Given the description of an element on the screen output the (x, y) to click on. 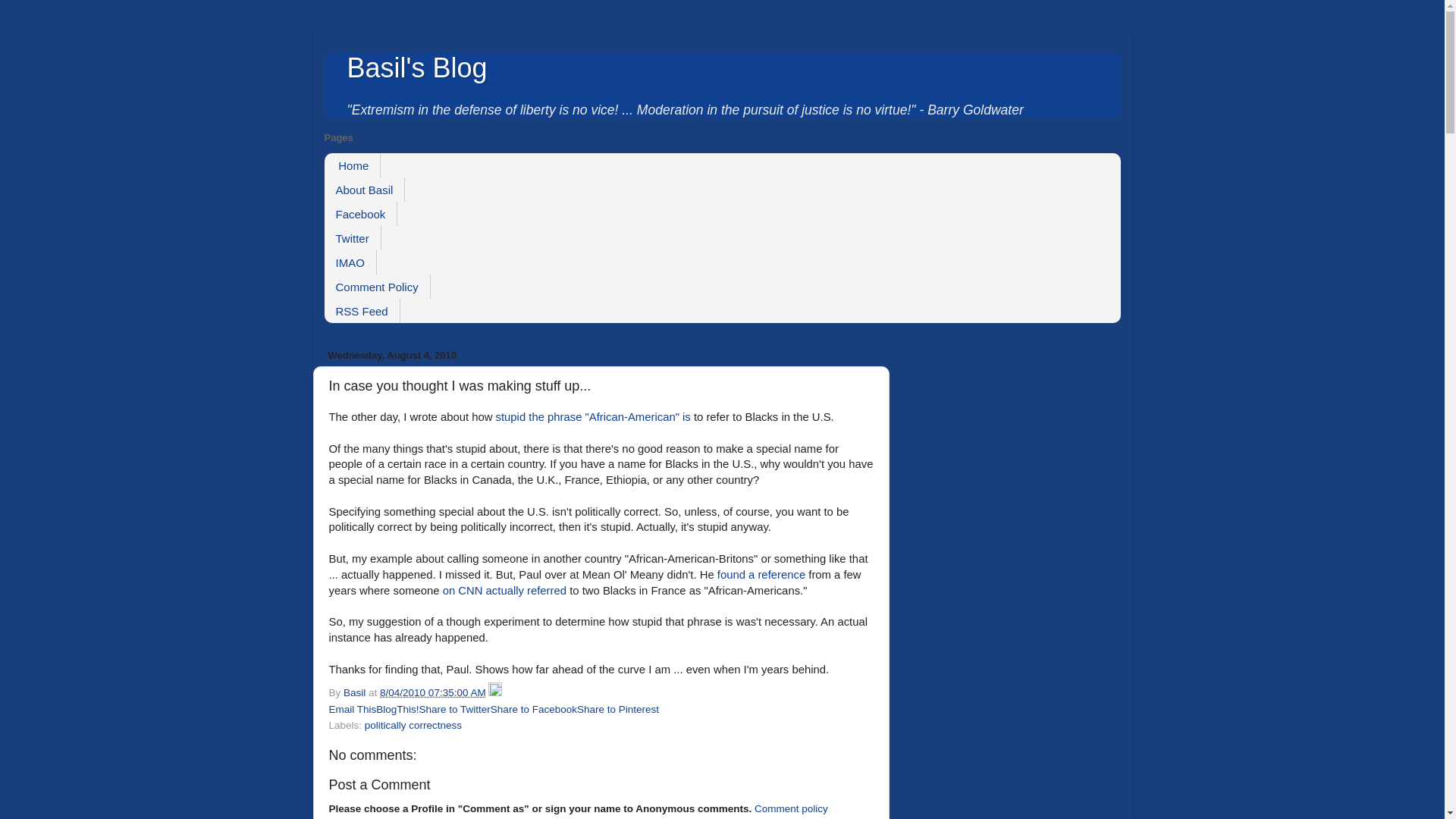
Share to Facebook (533, 708)
on CNN actually referred (504, 590)
Basil's Blog (417, 67)
Email This (353, 708)
Comment Policy (377, 286)
Share to Facebook (533, 708)
Email This (353, 708)
found a reference (761, 574)
About Basil (365, 189)
Comment policy (791, 808)
Edit Post (494, 692)
BlogThis! (397, 708)
Share to Twitter (454, 708)
RSS Feed (362, 310)
Share to Pinterest (617, 708)
